Given the description of an element on the screen output the (x, y) to click on. 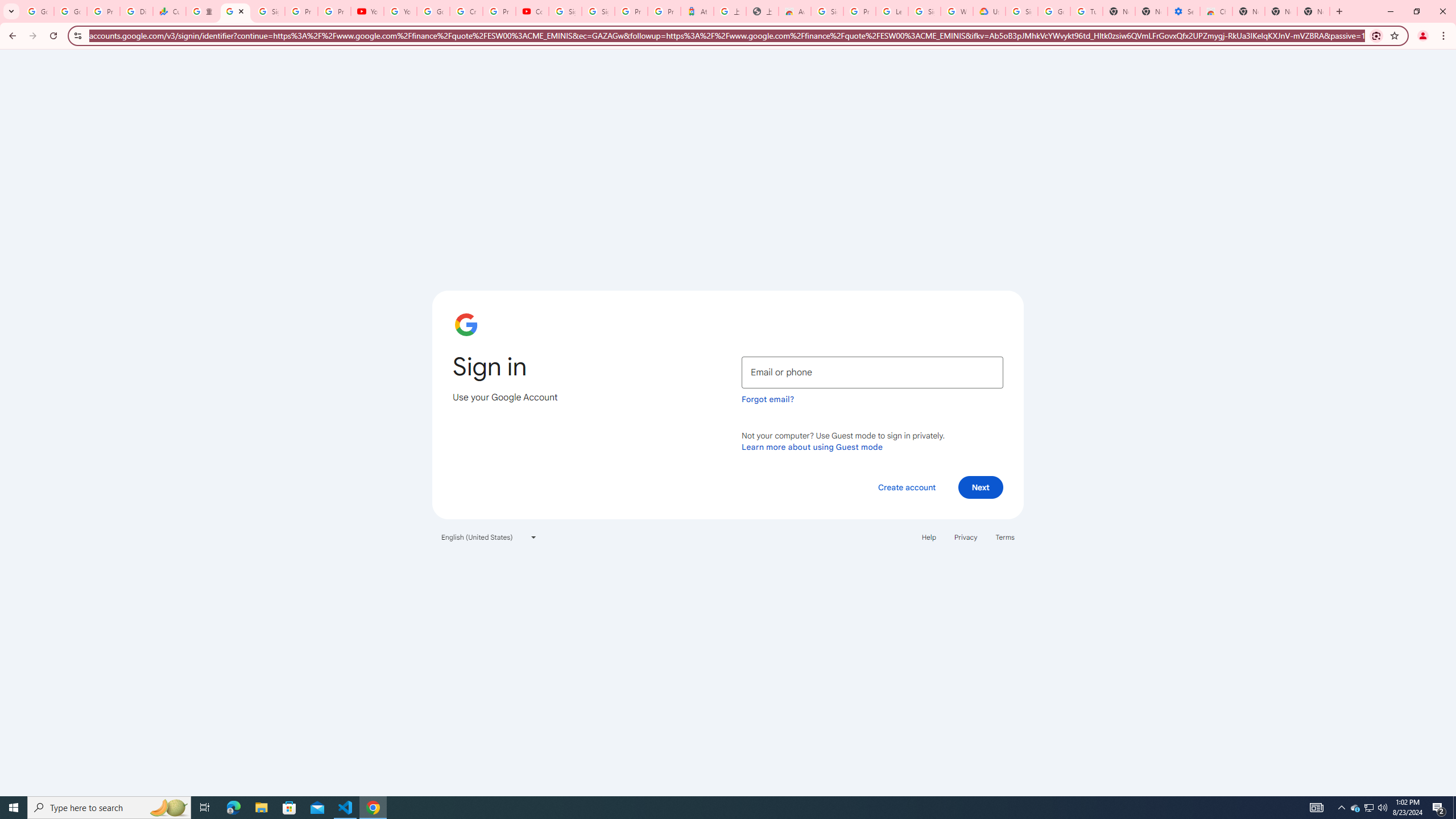
Currencies - Google Finance (169, 11)
Forgot email? (767, 398)
Sign in - Google Accounts (268, 11)
Atour Hotel - Google hotels (697, 11)
Who are Google's partners? - Privacy and conditions - Google (957, 11)
New Tab (1313, 11)
Privacy Checkup (334, 11)
YouTube (367, 11)
Sign in - Google Accounts (598, 11)
